Given the description of an element on the screen output the (x, y) to click on. 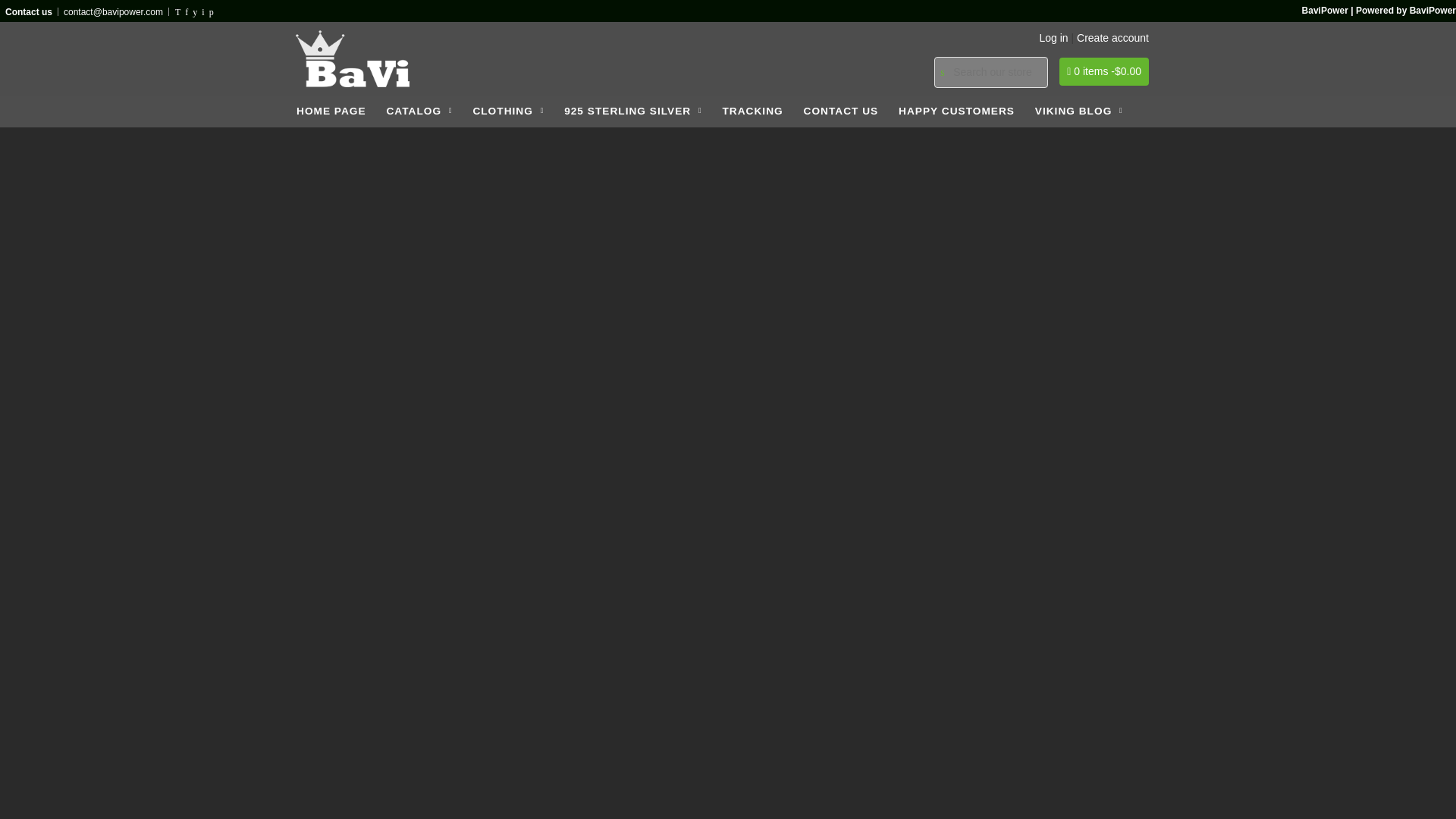
Contact us (29, 11)
